Given the description of an element on the screen output the (x, y) to click on. 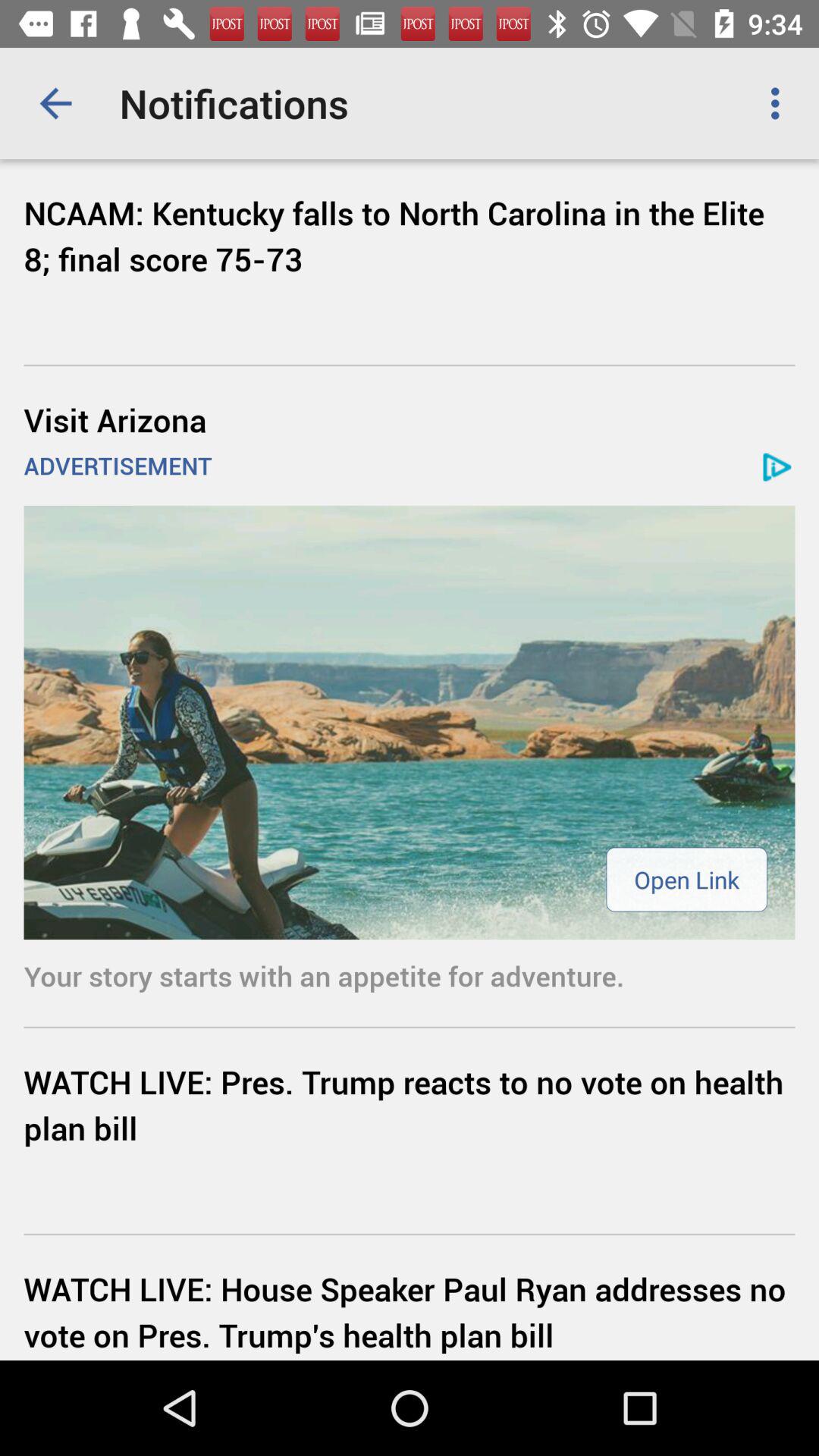
turn on icon above the advertisement icon (409, 419)
